Given the description of an element on the screen output the (x, y) to click on. 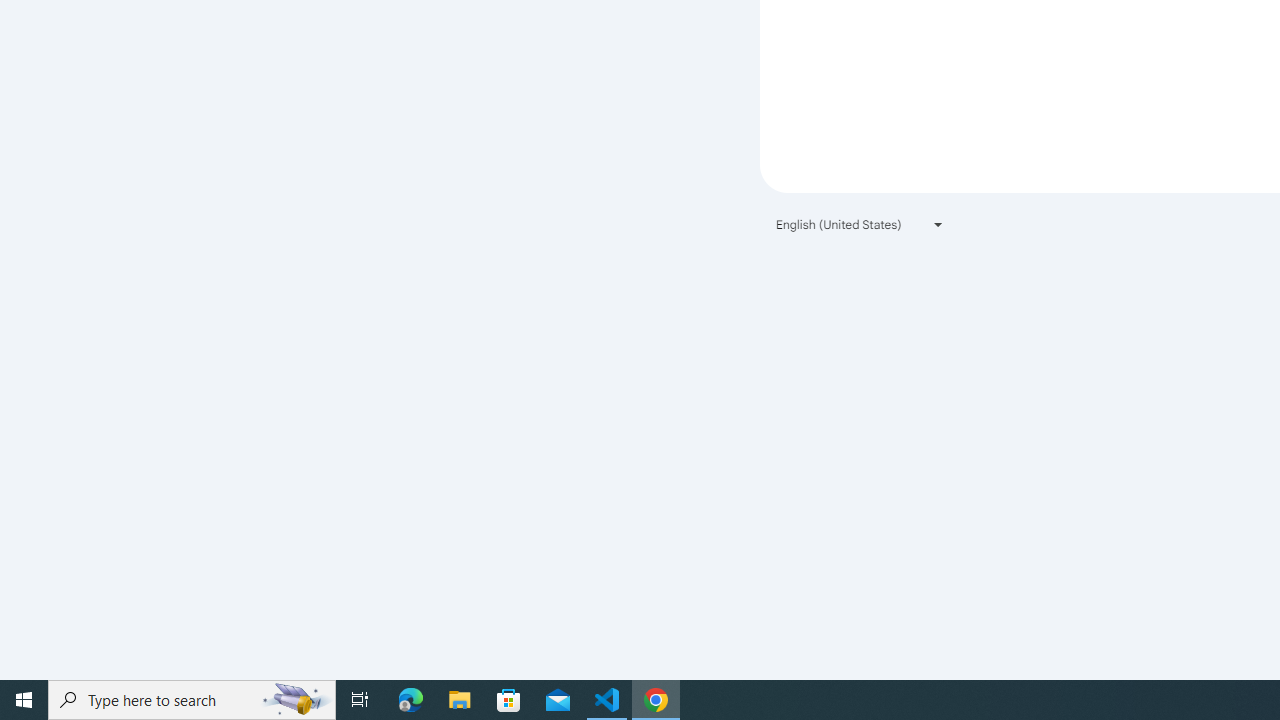
English (United States) (860, 224)
